Given the description of an element on the screen output the (x, y) to click on. 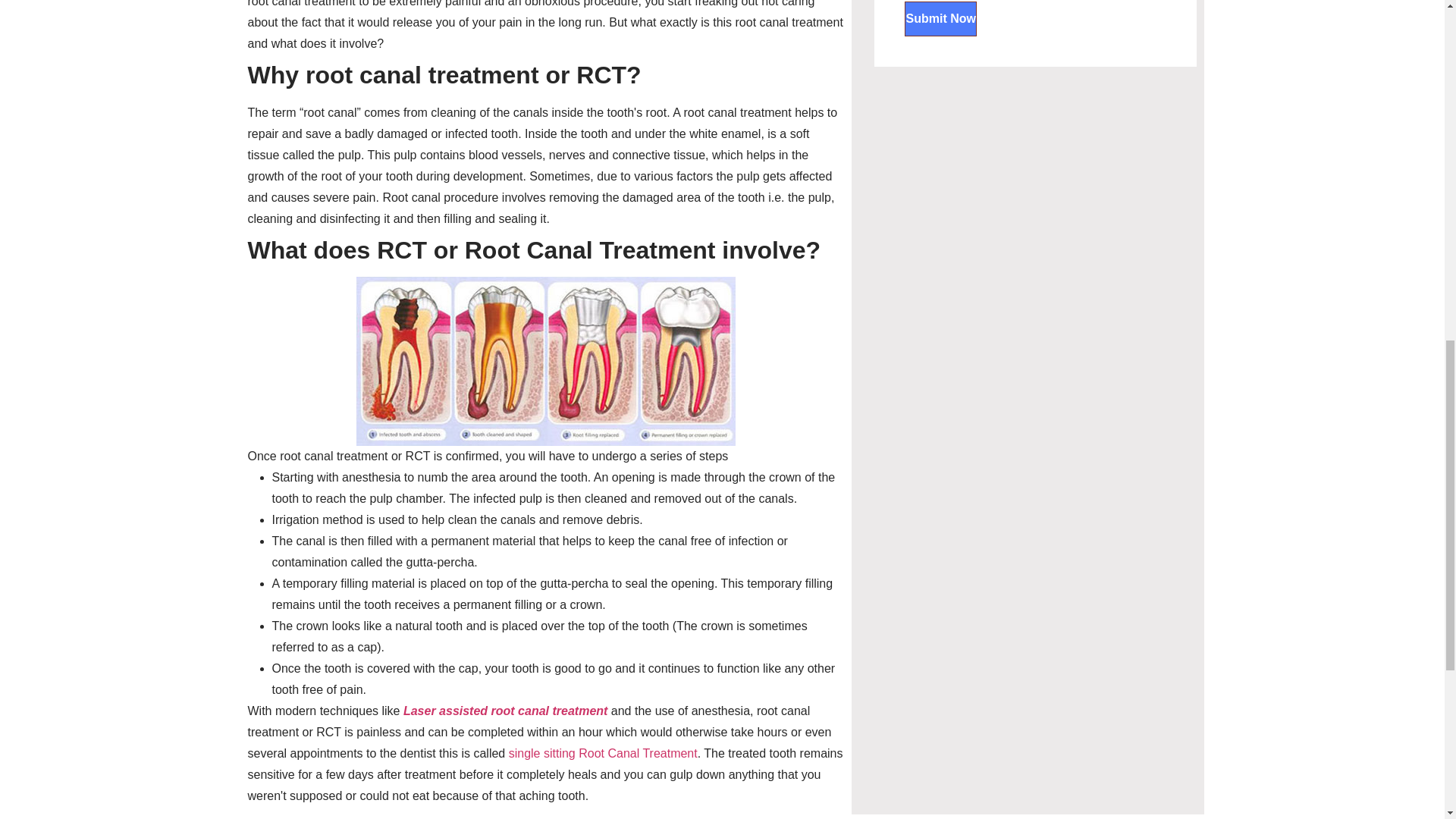
Submit Now (939, 18)
